Given the description of an element on the screen output the (x, y) to click on. 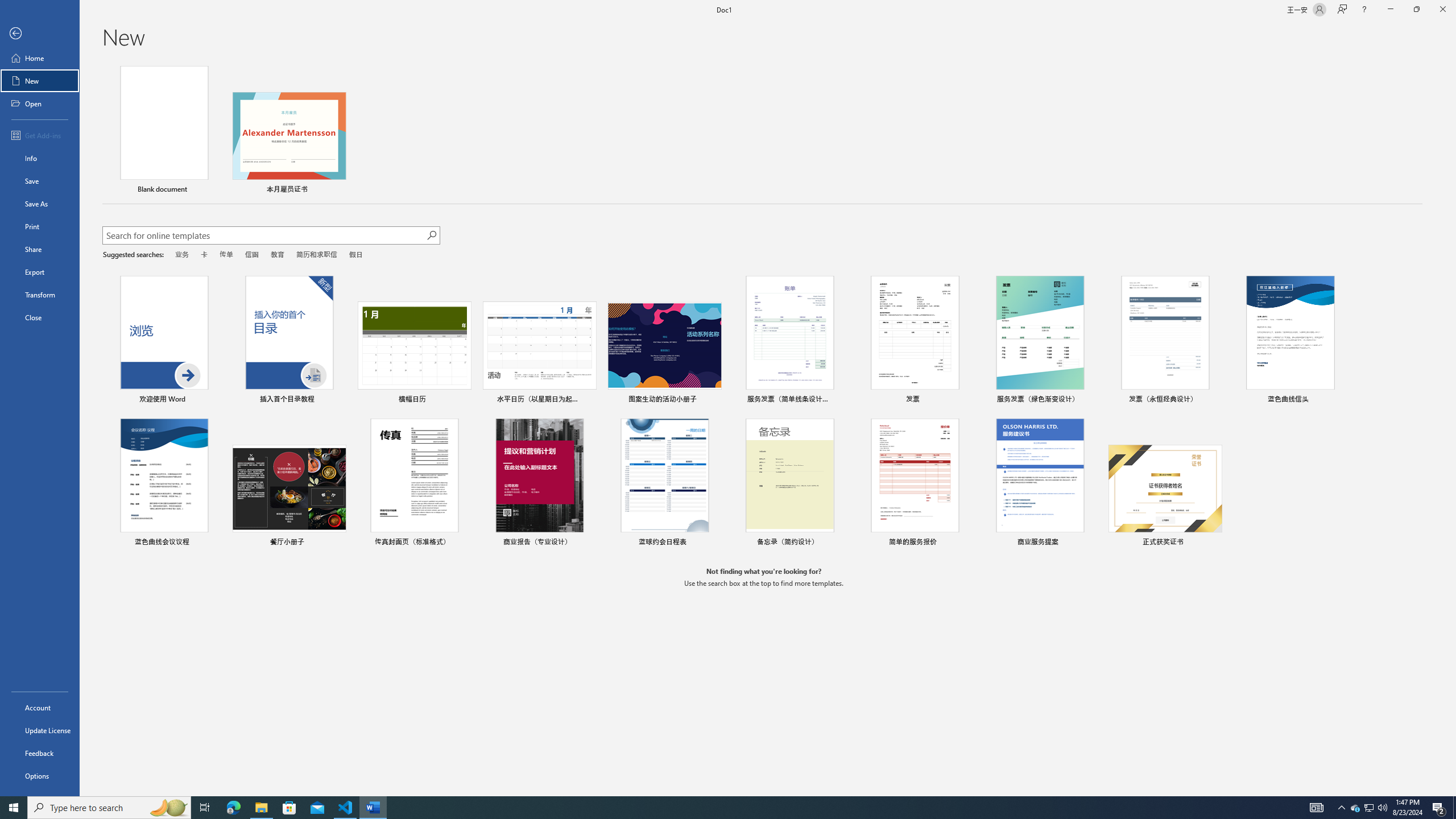
Search for online templates (264, 237)
Save As (40, 203)
Open (40, 102)
